Given the description of an element on the screen output the (x, y) to click on. 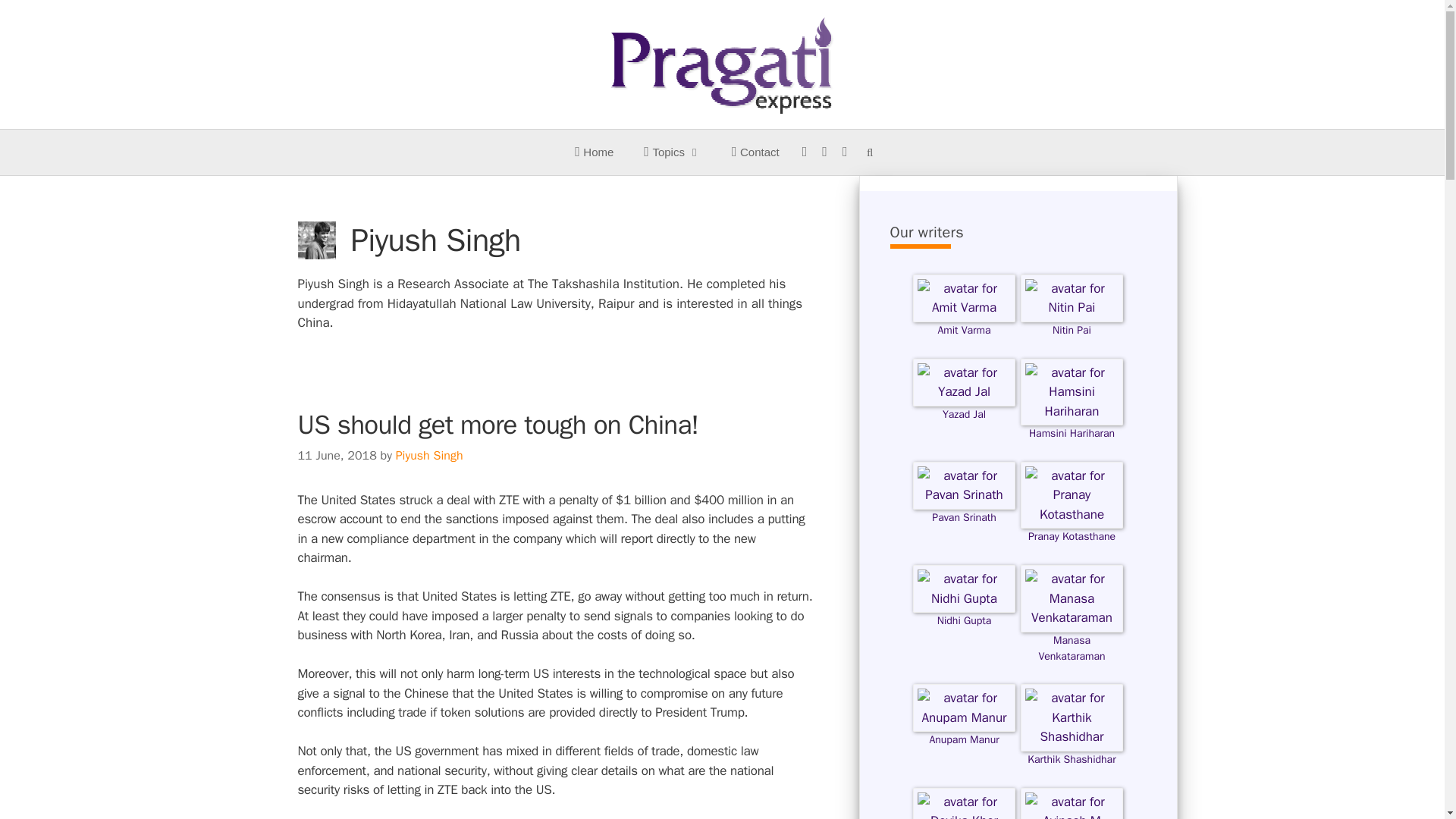
Amit Varma (963, 318)
US should get more tough on China! (497, 424)
Twitter (823, 152)
Facebook (804, 152)
Yazad Jal (963, 403)
Pavan Srinath (963, 505)
Pranay Kotasthane (1071, 525)
Piyush Singh (429, 455)
Contact (755, 152)
Home (593, 152)
Topics (672, 152)
RSS feed (845, 152)
Nitin Pai (1071, 318)
Nidhi Gupta (963, 609)
Anupam Manur (963, 729)
